Given the description of an element on the screen output the (x, y) to click on. 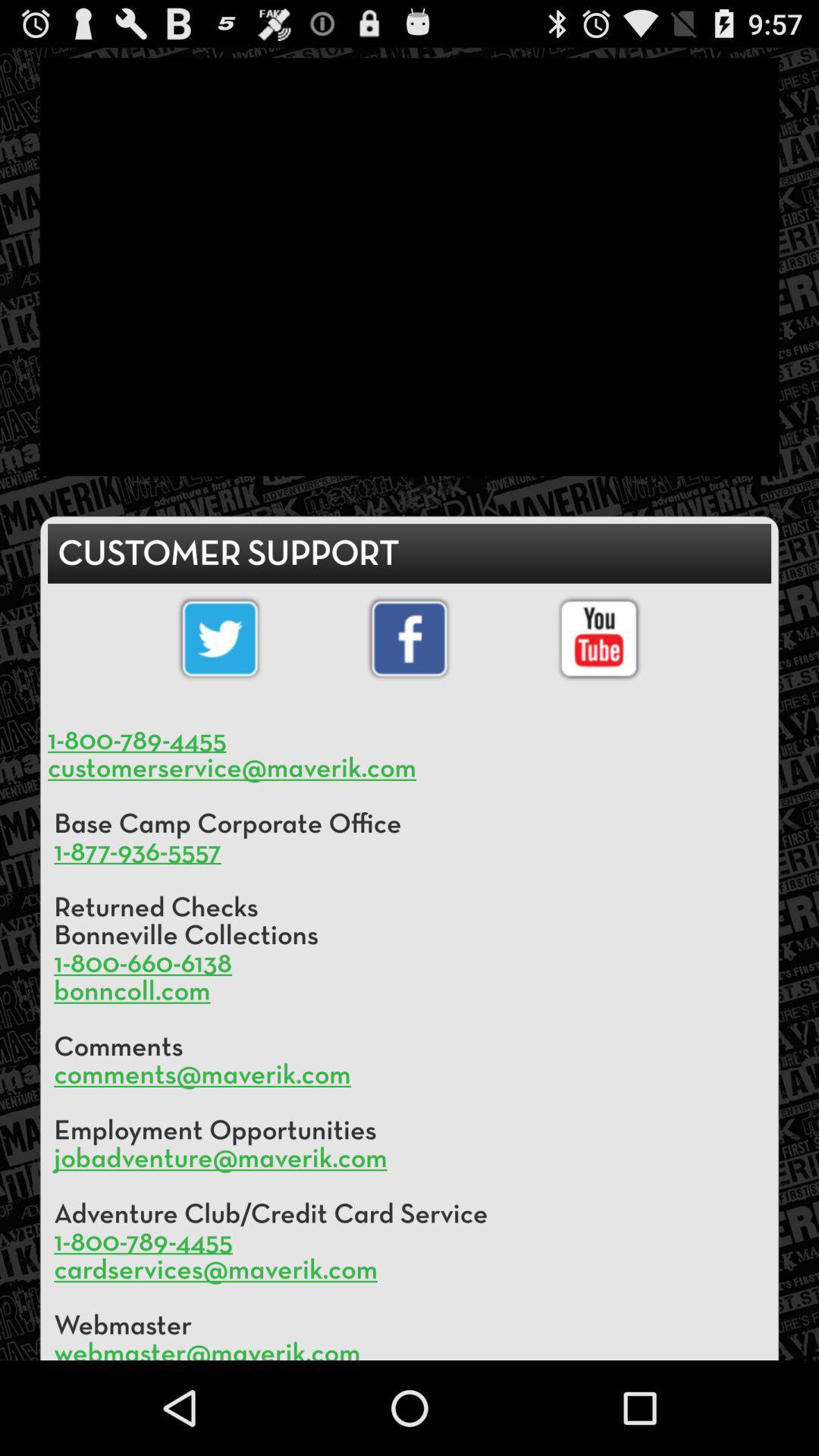
go to company twitter (220, 638)
